Given the description of an element on the screen output the (x, y) to click on. 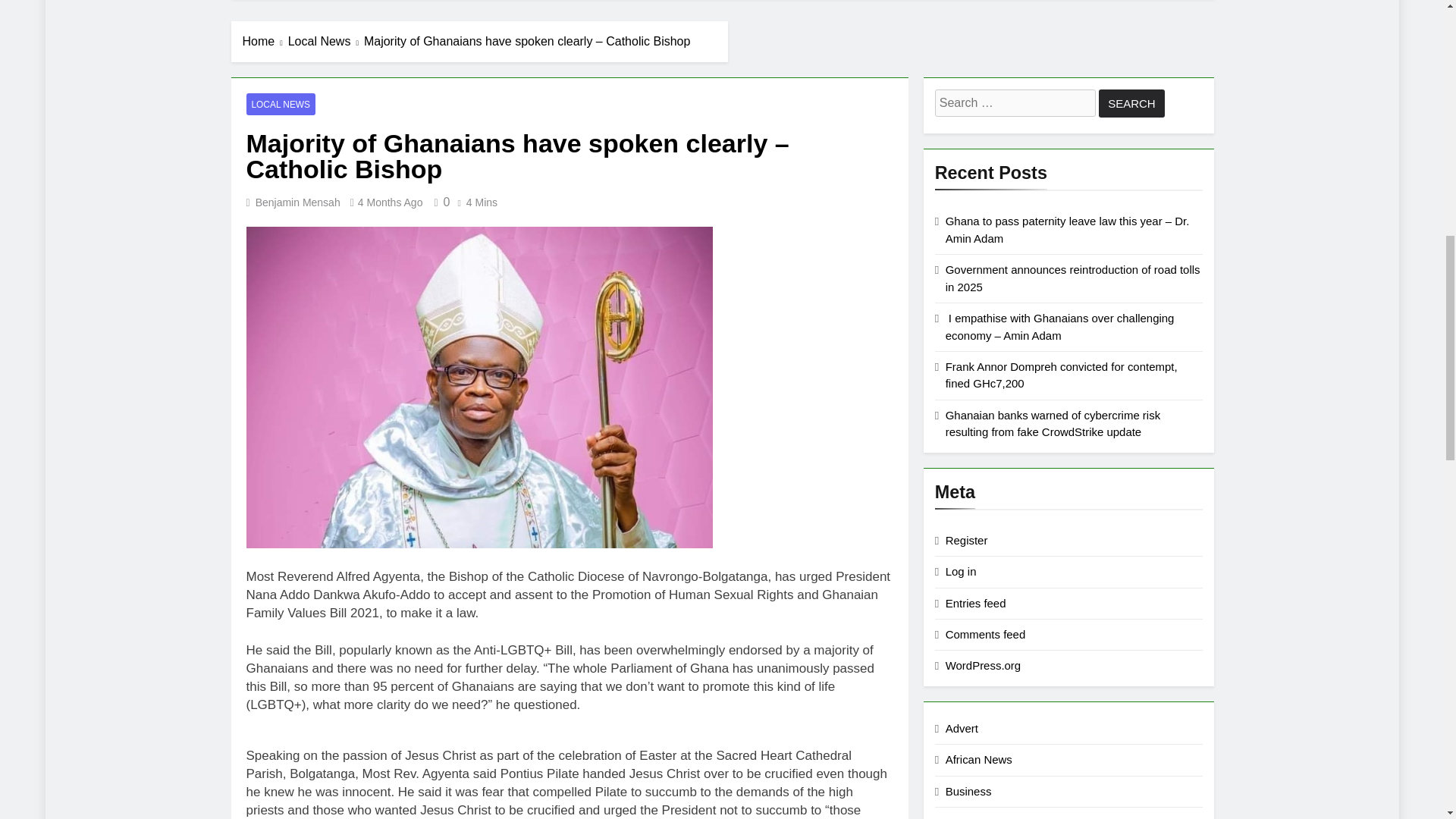
Simply Taste (703, 2)
Search (1131, 103)
Search (1131, 103)
Simply Taste (699, 2)
